Given the description of an element on the screen output the (x, y) to click on. 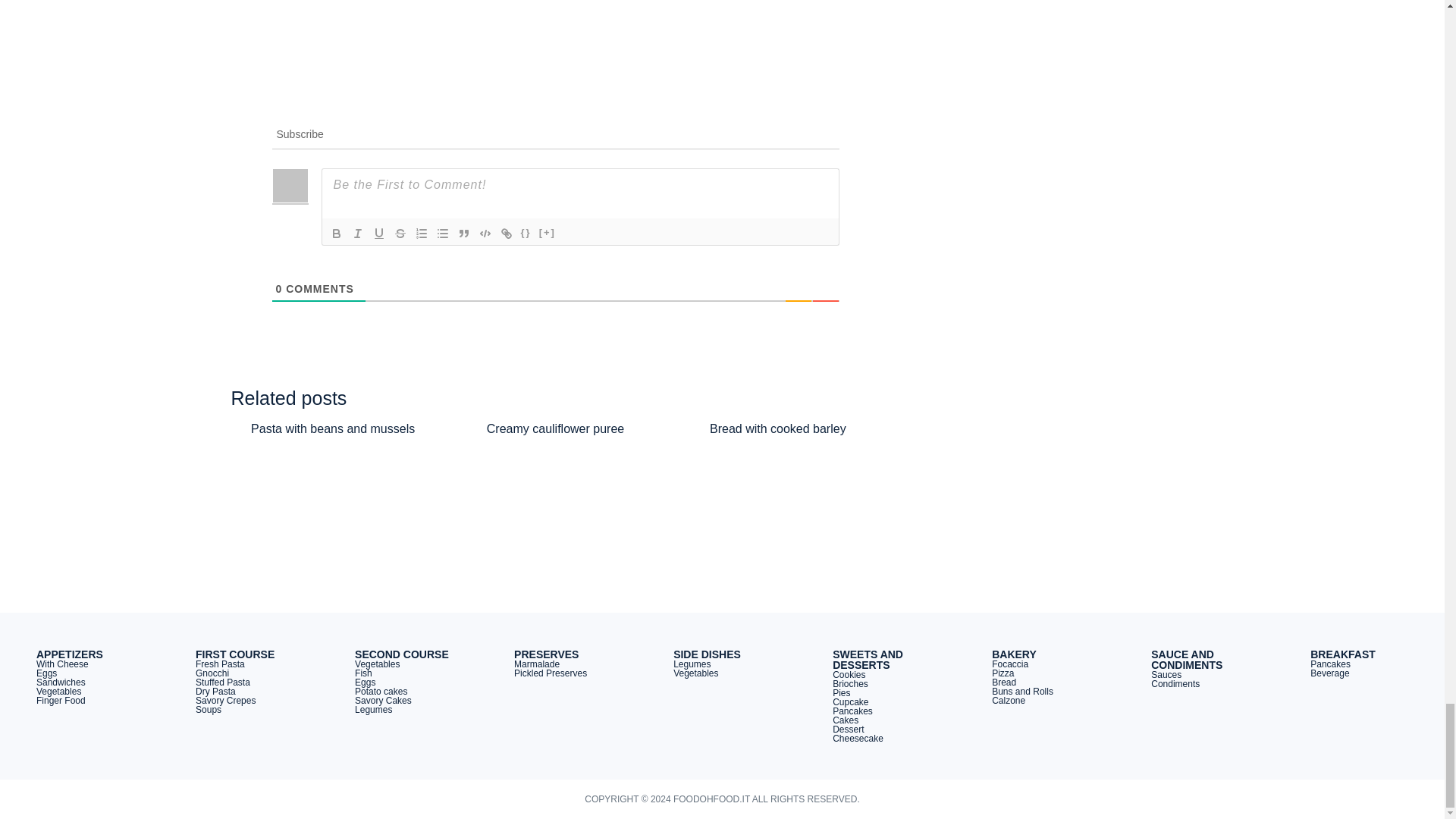
Blockquote (463, 233)
Bold (336, 233)
Underline (379, 233)
Spoiler (547, 233)
Italic (357, 233)
Strike (400, 233)
Code Block (485, 233)
Link (506, 233)
Ordered List (421, 233)
Source Code (525, 233)
Unordered List (442, 233)
